Given the description of an element on the screen output the (x, y) to click on. 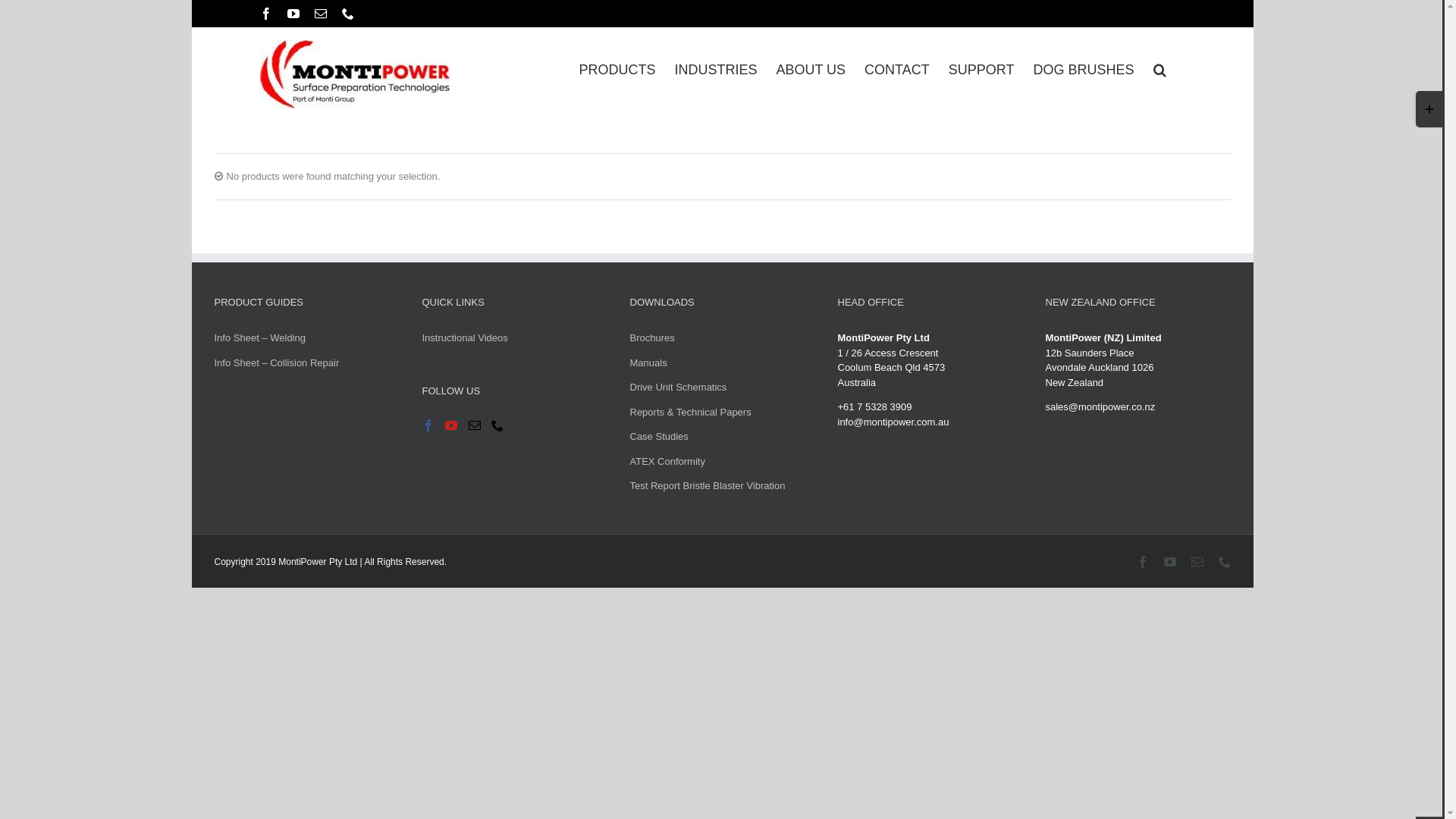
ABOUT US Element type: text (810, 85)
SUPPORT Element type: text (981, 85)
Drive Unit Schematics Element type: text (677, 386)
Email Element type: text (1196, 561)
Case Studies Element type: text (658, 436)
Manuals Element type: text (647, 361)
YouTube Element type: text (292, 13)
ATEX Conformity Element type: text (666, 460)
Facebook Element type: text (265, 13)
PRODUCTS Element type: text (616, 85)
INDUSTRIES Element type: text (715, 85)
Toggle Sliding Bar Area Element type: text (1428, 109)
Phone Element type: text (347, 13)
Brochures Element type: text (651, 337)
Instructional Videos Element type: text (464, 337)
CONTACT Element type: text (896, 85)
DOG BRUSHES Element type: text (1082, 85)
Phone Element type: text (1223, 561)
Facebook Element type: text (1141, 561)
YouTube Element type: text (1169, 561)
Search Element type: hover (1158, 85)
Test Report Bristle Blaster Vibration Element type: text (706, 485)
Reports & Technical Papers Element type: text (689, 411)
Email Element type: text (319, 13)
